Given the description of an element on the screen output the (x, y) to click on. 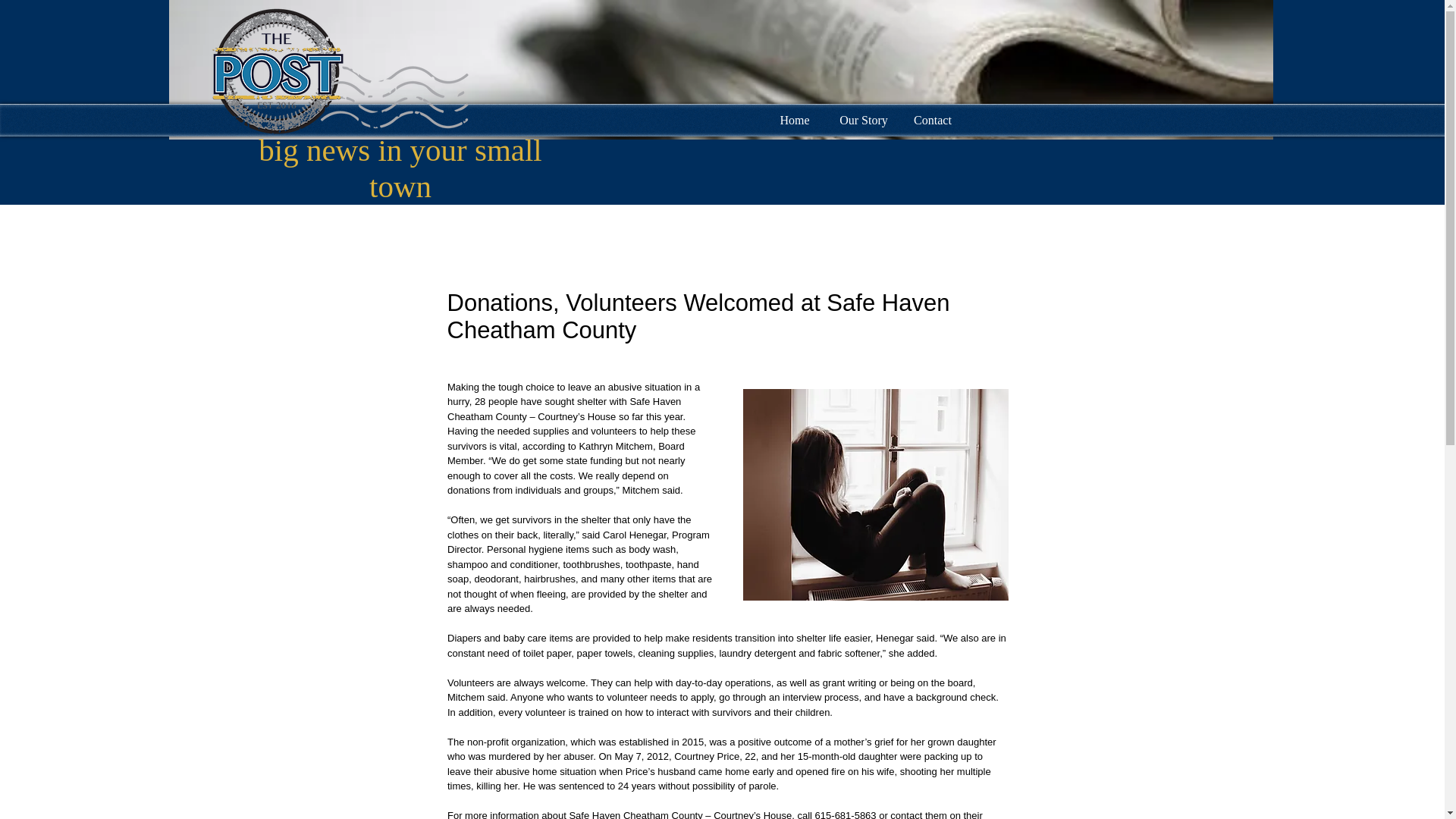
Contact (932, 118)
The Post Logo-10.png (338, 69)
Home (794, 118)
Our Story (863, 118)
